Given the description of an element on the screen output the (x, y) to click on. 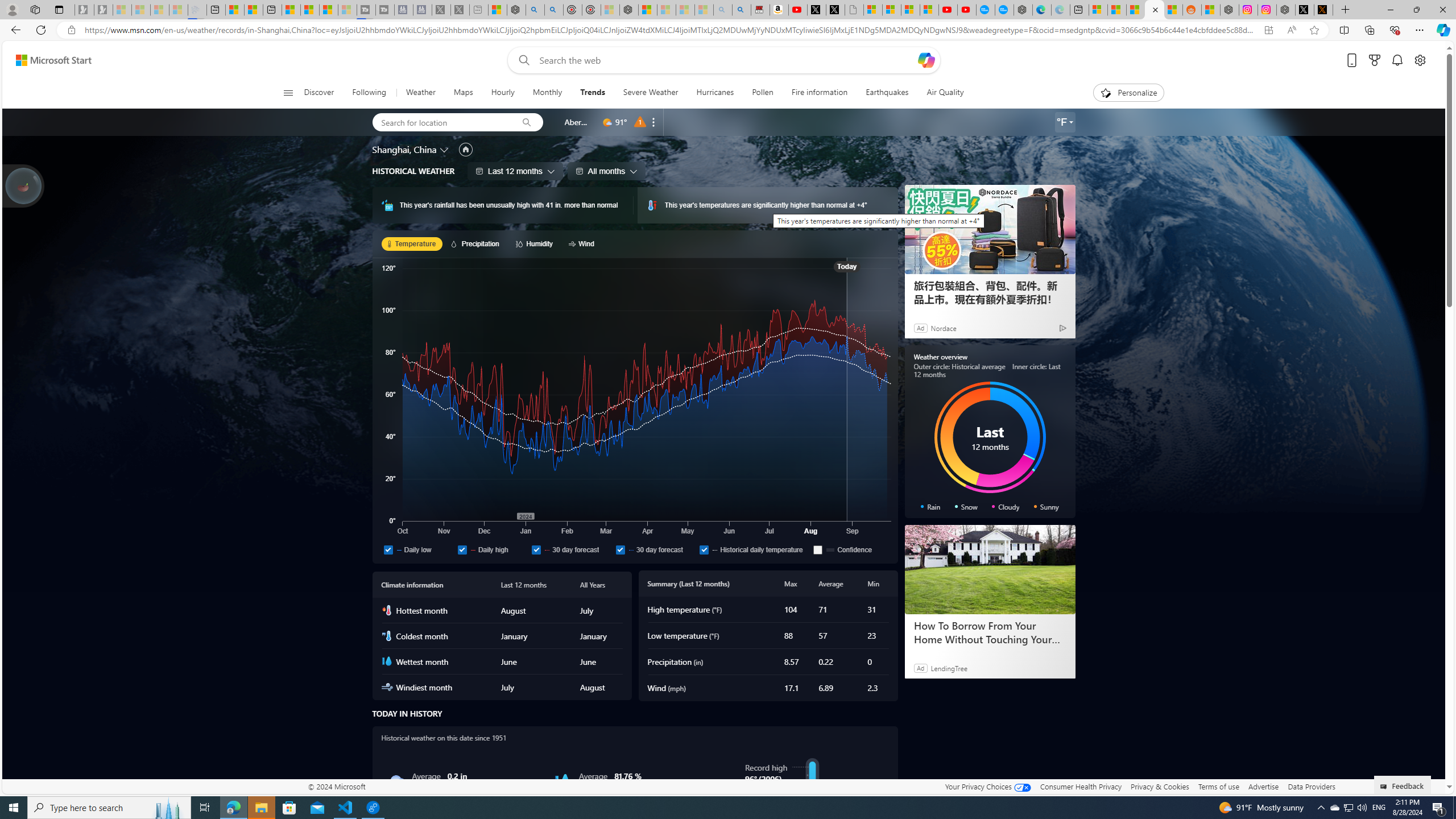
Earthquakes (886, 92)
Fire information (818, 92)
Open settings (1420, 60)
Open navigation menu (287, 92)
Change location (445, 149)
Newsletter Sign Up - Sleeping (102, 9)
Earthquakes (887, 92)
Fire information (819, 92)
YouTube Kids - An App Created for Kids to Explore Content (966, 9)
30 day forecast (619, 549)
